Given the description of an element on the screen output the (x, y) to click on. 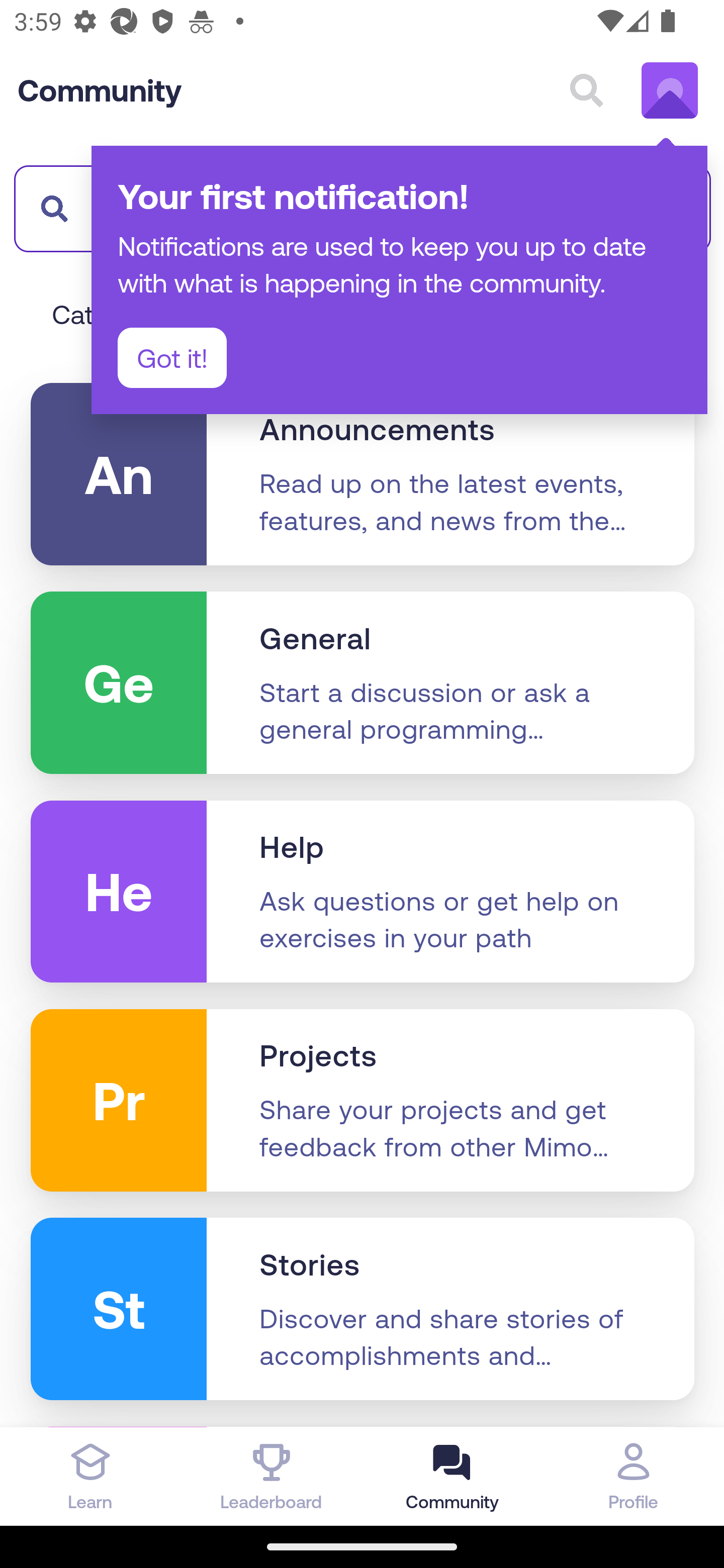
Search (586, 90)
Test Appium's account (669, 90)
Community (100, 90)
​ (48, 207)
Got it! (171, 357)
Announcements (376, 429)
General (315, 639)
Help (291, 847)
Projects (317, 1056)
Stories (309, 1265)
Learn (90, 1475)
Leaderboard (271, 1475)
Profile (633, 1475)
